Given the description of an element on the screen output the (x, y) to click on. 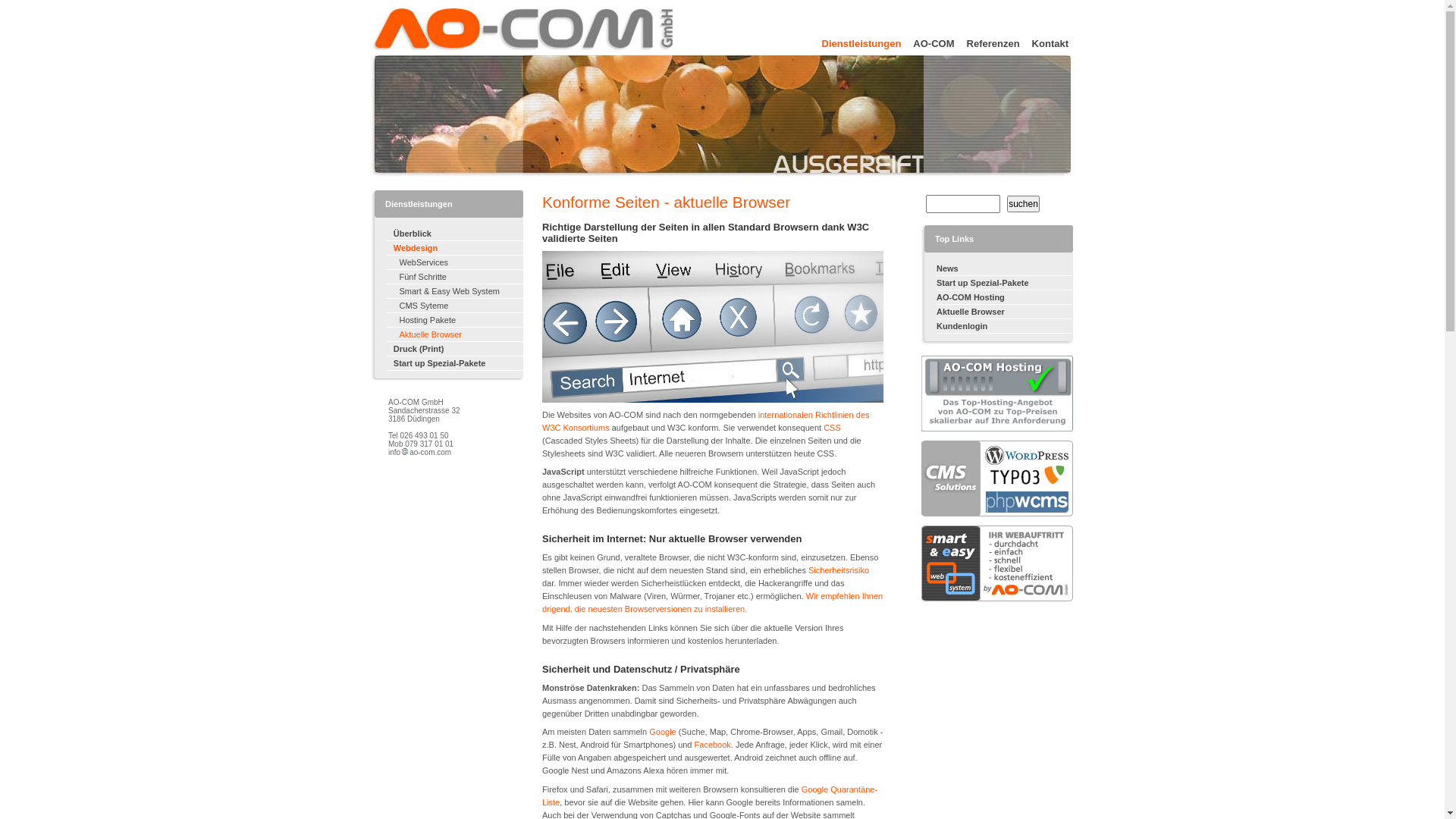
AO-COM Hosting Element type: text (1003, 297)
Webdesign Element type: text (454, 248)
Start up Spezial-Pakete Element type: text (454, 363)
Smart & Easy Web System Element type: text (454, 291)
Druck (Print) Element type: text (454, 349)
Referenzen Element type: text (986, 41)
AO-COM Element type: text (926, 41)
Hosting Pakete Element type: text (454, 320)
Start up Spezial-Pakete Element type: text (1003, 283)
Kontakt Element type: text (1043, 41)
WebServices Element type: text (454, 262)
CMS Syteme Element type: text (454, 305)
News Element type: text (1003, 268)
suchen Element type: text (1023, 203)
Aktuelle Browser Element type: text (454, 334)
Aktuelle Browser Element type: text (1003, 311)
Kundenlogin Element type: text (1003, 326)
Dienstleistungen Element type: text (855, 42)
